Given the description of an element on the screen output the (x, y) to click on. 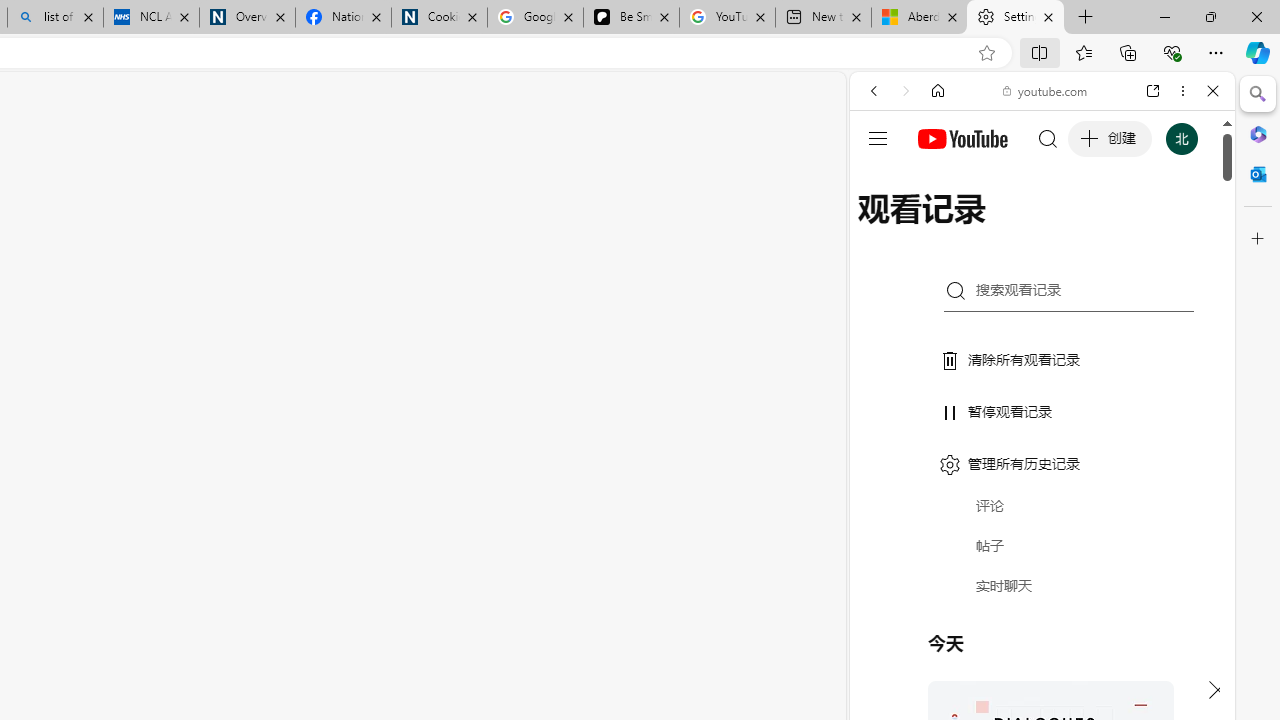
Search Filter, IMAGES (939, 228)
#you (1042, 445)
Be Smart | creating Science videos | Patreon (631, 17)
IMAGES (939, 228)
Trailer #2 [HD] (1042, 592)
Open link in new tab (1153, 91)
More options (1182, 91)
Cookies (439, 17)
Home (938, 91)
